Given the description of an element on the screen output the (x, y) to click on. 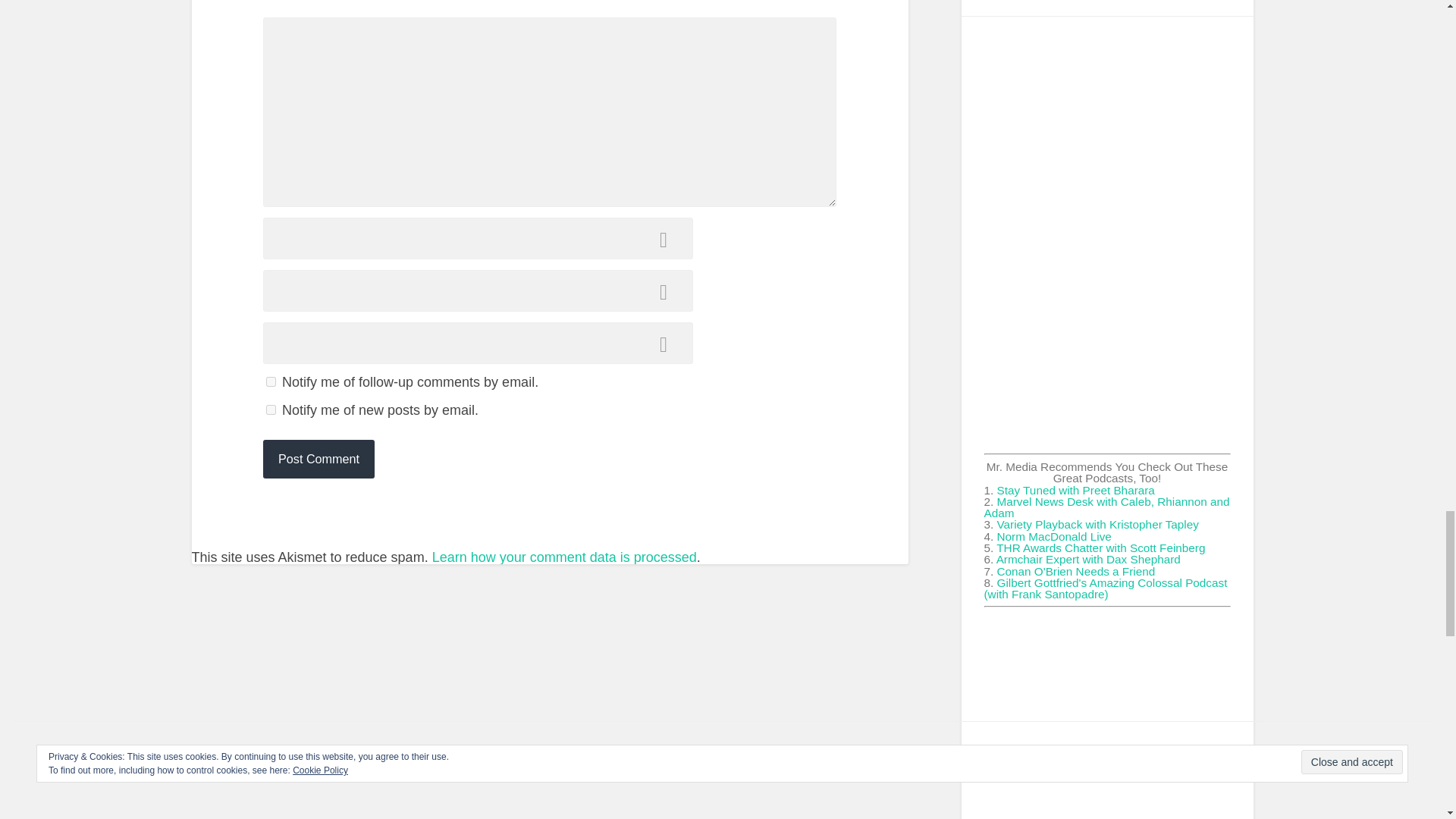
subscribe (271, 381)
subscribe (271, 409)
Post Comment (318, 458)
